Given the description of an element on the screen output the (x, y) to click on. 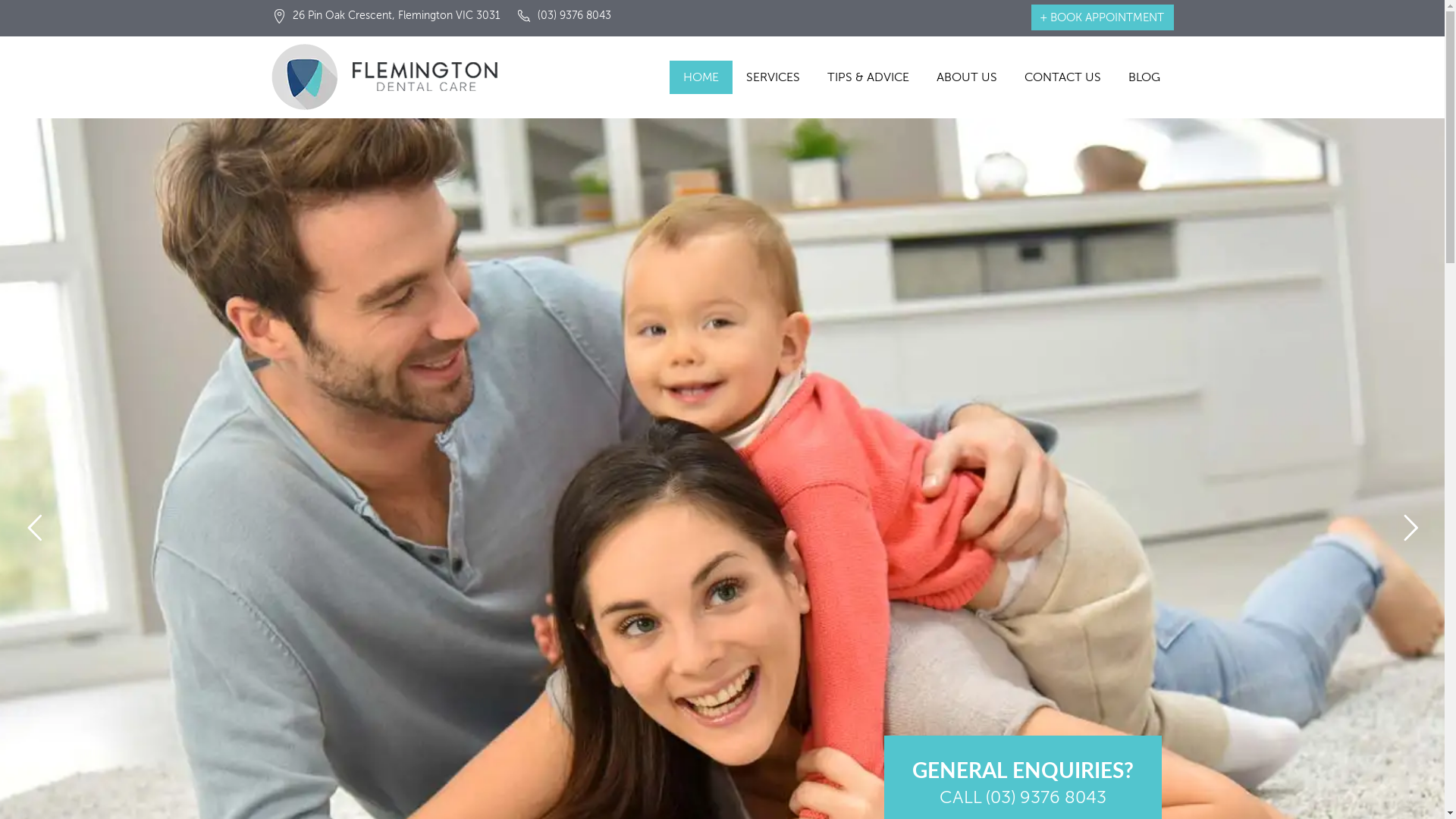
HOME Element type: text (699, 77)
(03) 9376 8043 Element type: text (562, 15)
FLEMINGTON DENTAL CARE Element type: text (397, 76)
CONTACT US Element type: text (1061, 77)
CALL (03) 9376 8043 Element type: text (1022, 796)
TIPS & ADVICE Element type: text (867, 77)
SERVICES Element type: text (772, 77)
+ BOOK APPOINTMENT Element type: text (1102, 17)
BLOG Element type: text (1143, 77)
ABOUT US Element type: text (966, 77)
GENERAL ENQUIRIES? Element type: text (1022, 769)
